Given the description of an element on the screen output the (x, y) to click on. 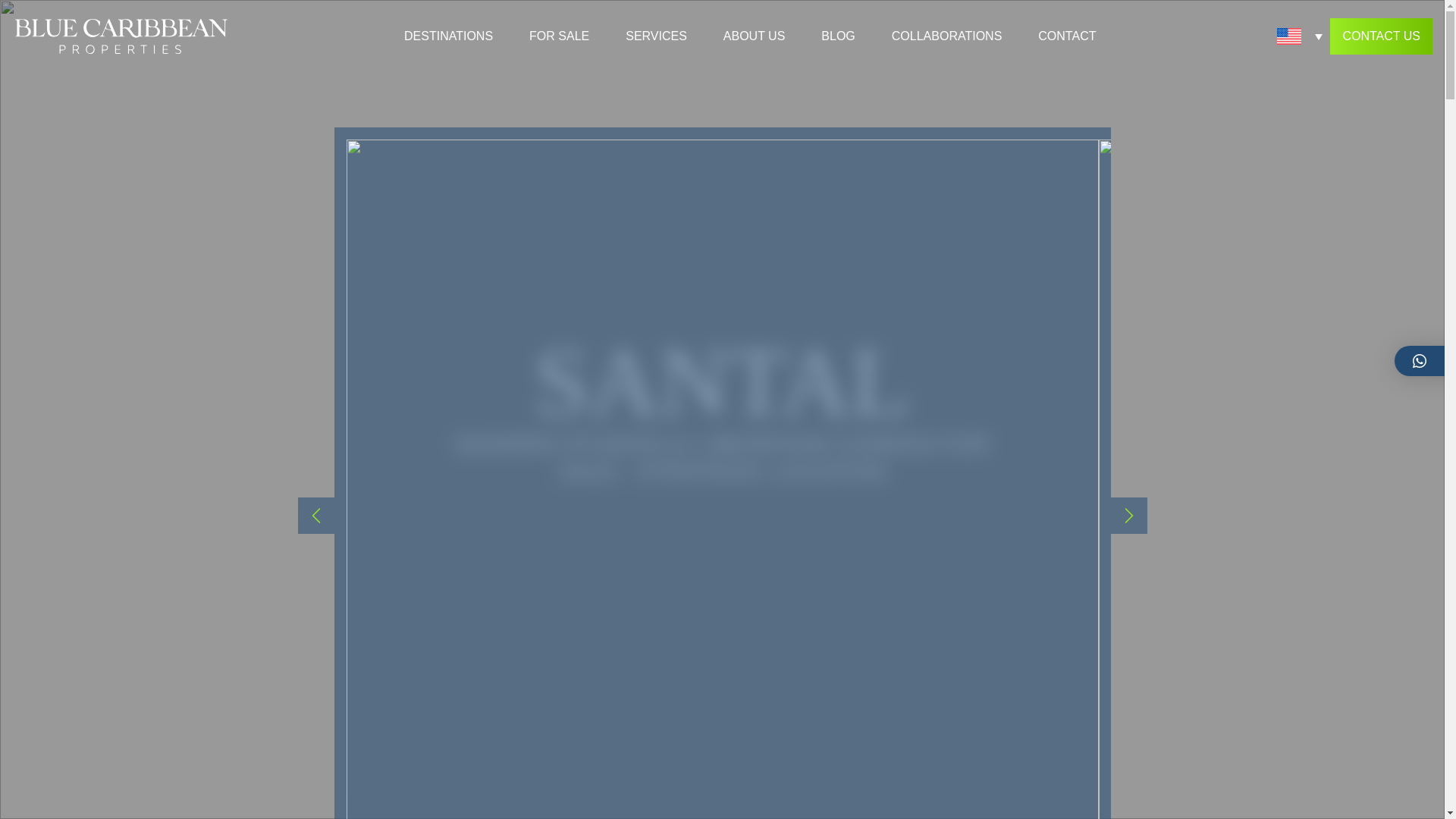
FOR SALE (559, 36)
DESTINATIONS (448, 36)
